Given the description of an element on the screen output the (x, y) to click on. 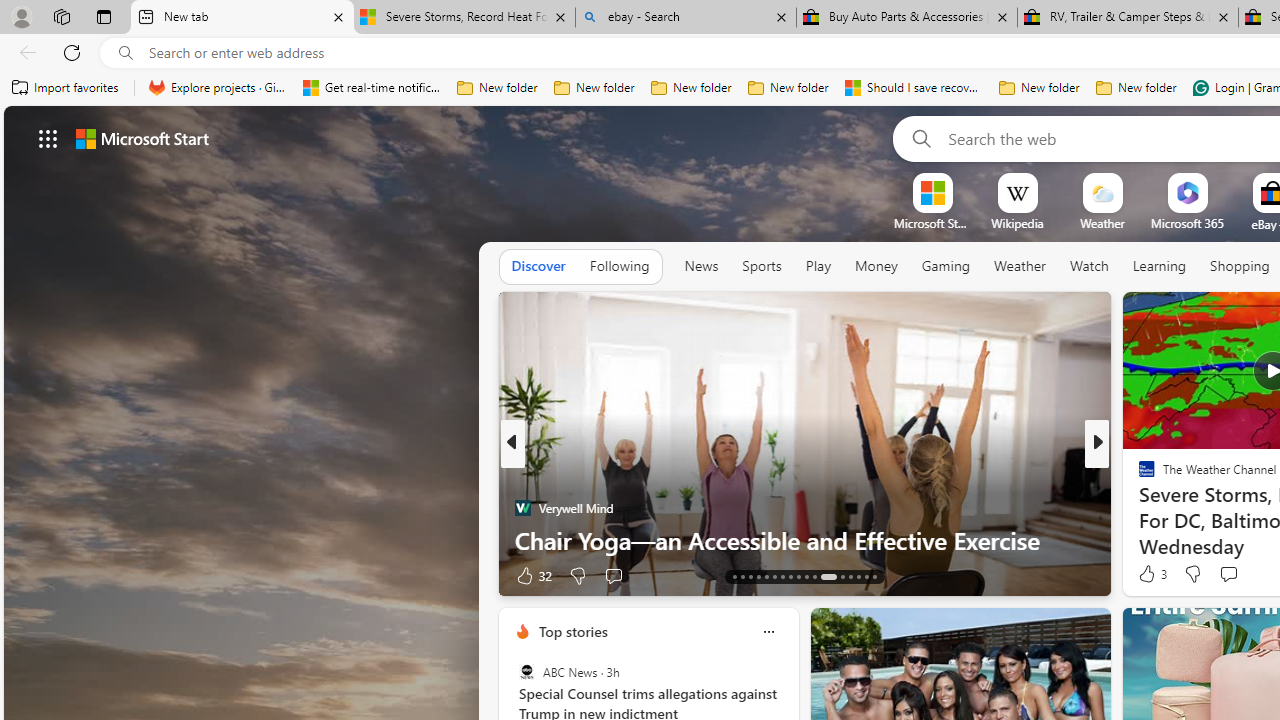
New folder (1136, 88)
View comments 1 Comment (1234, 575)
